Given the description of an element on the screen output the (x, y) to click on. 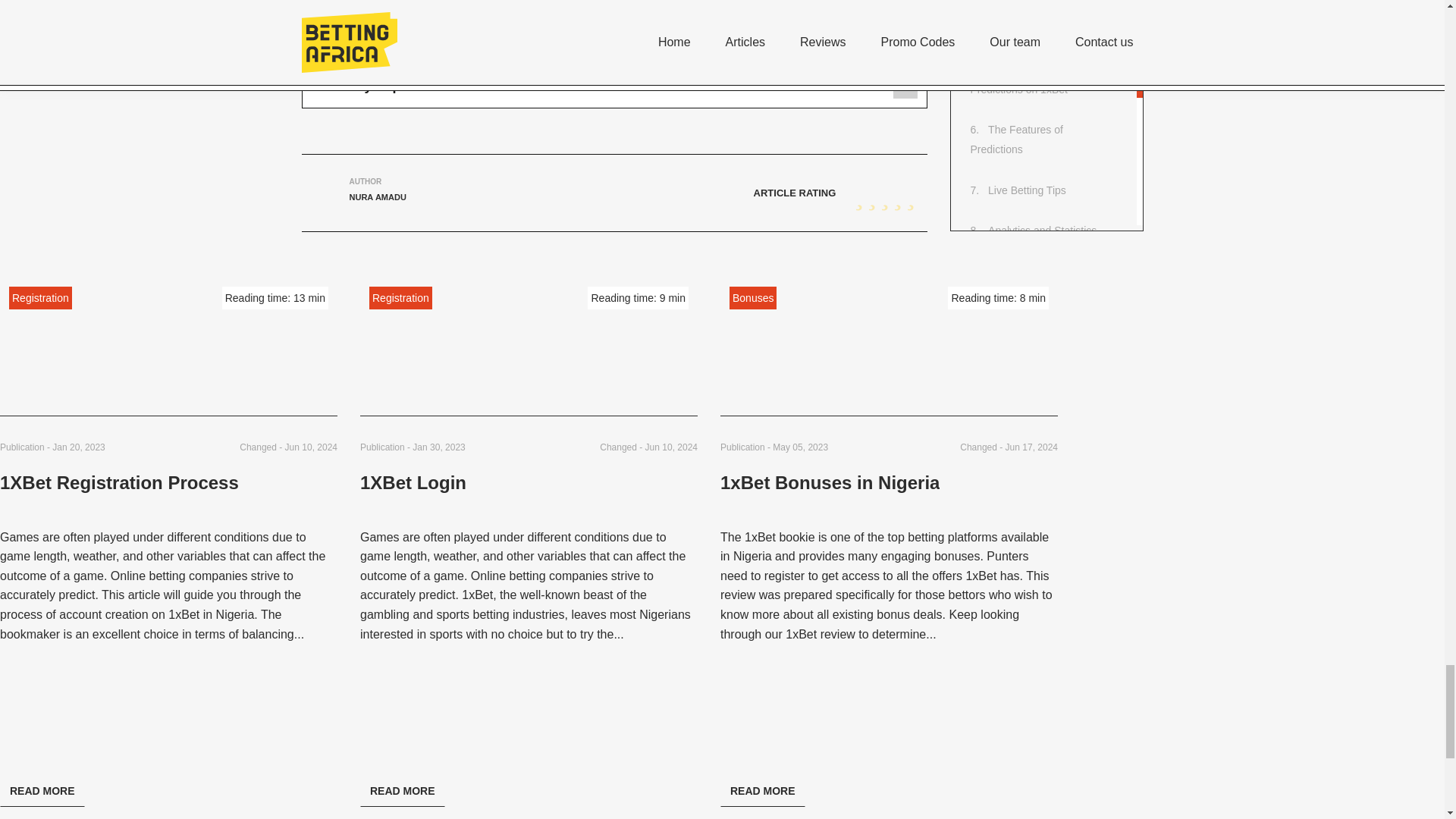
READ MORE (42, 790)
1XBet Login (412, 492)
1XBet Registration Process (119, 492)
READ MORE (402, 790)
1xBet review (821, 634)
1xBet Bonuses in Nigeria (829, 492)
